Given the description of an element on the screen output the (x, y) to click on. 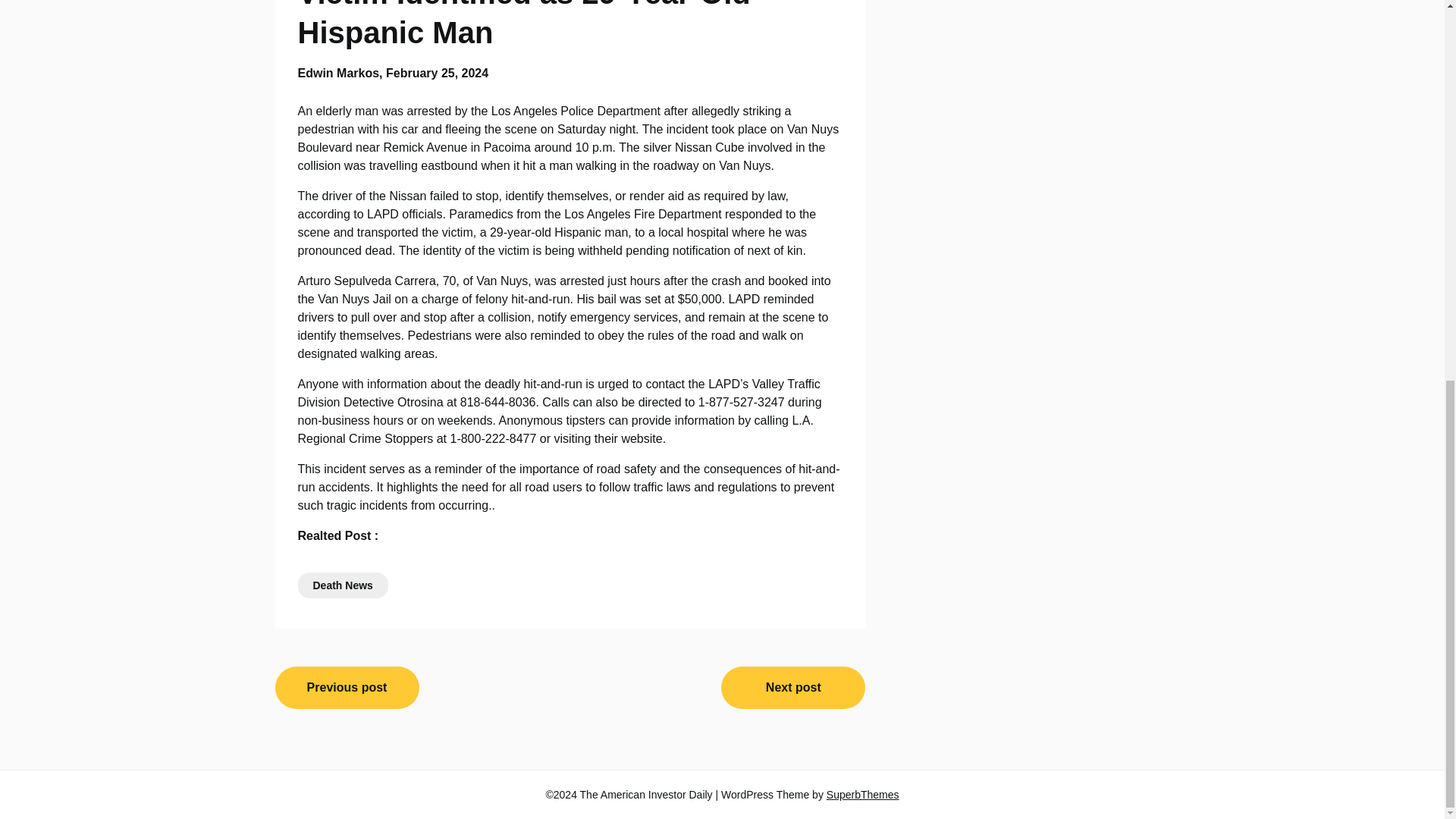
SuperbThemes (863, 794)
February 25, 2024 (436, 72)
Death News (342, 585)
Previous post (347, 687)
Next post (792, 687)
